Given the description of an element on the screen output the (x, y) to click on. 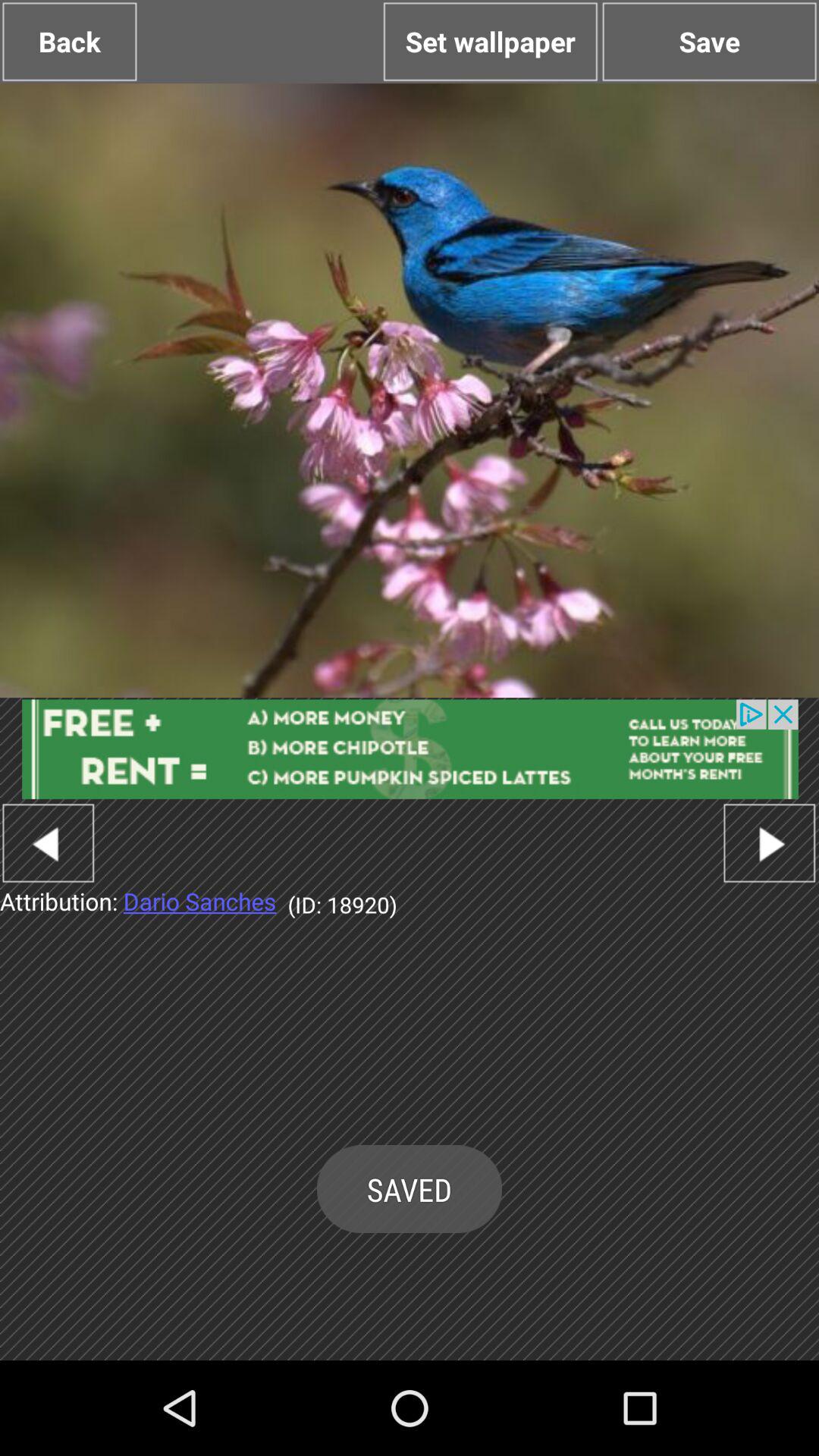
advertisement (409, 749)
